Given the description of an element on the screen output the (x, y) to click on. 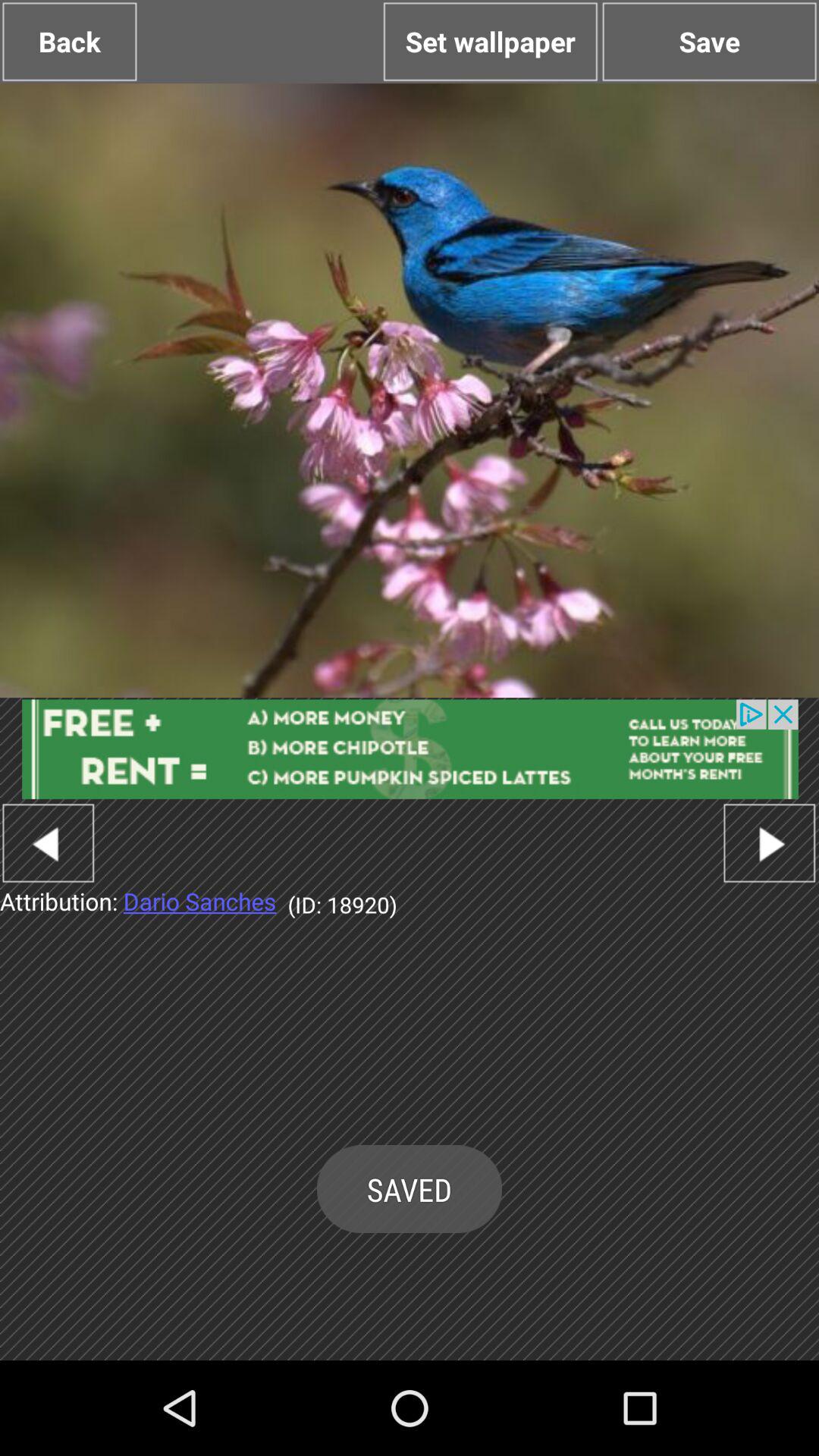
advertisement (409, 749)
